Given the description of an element on the screen output the (x, y) to click on. 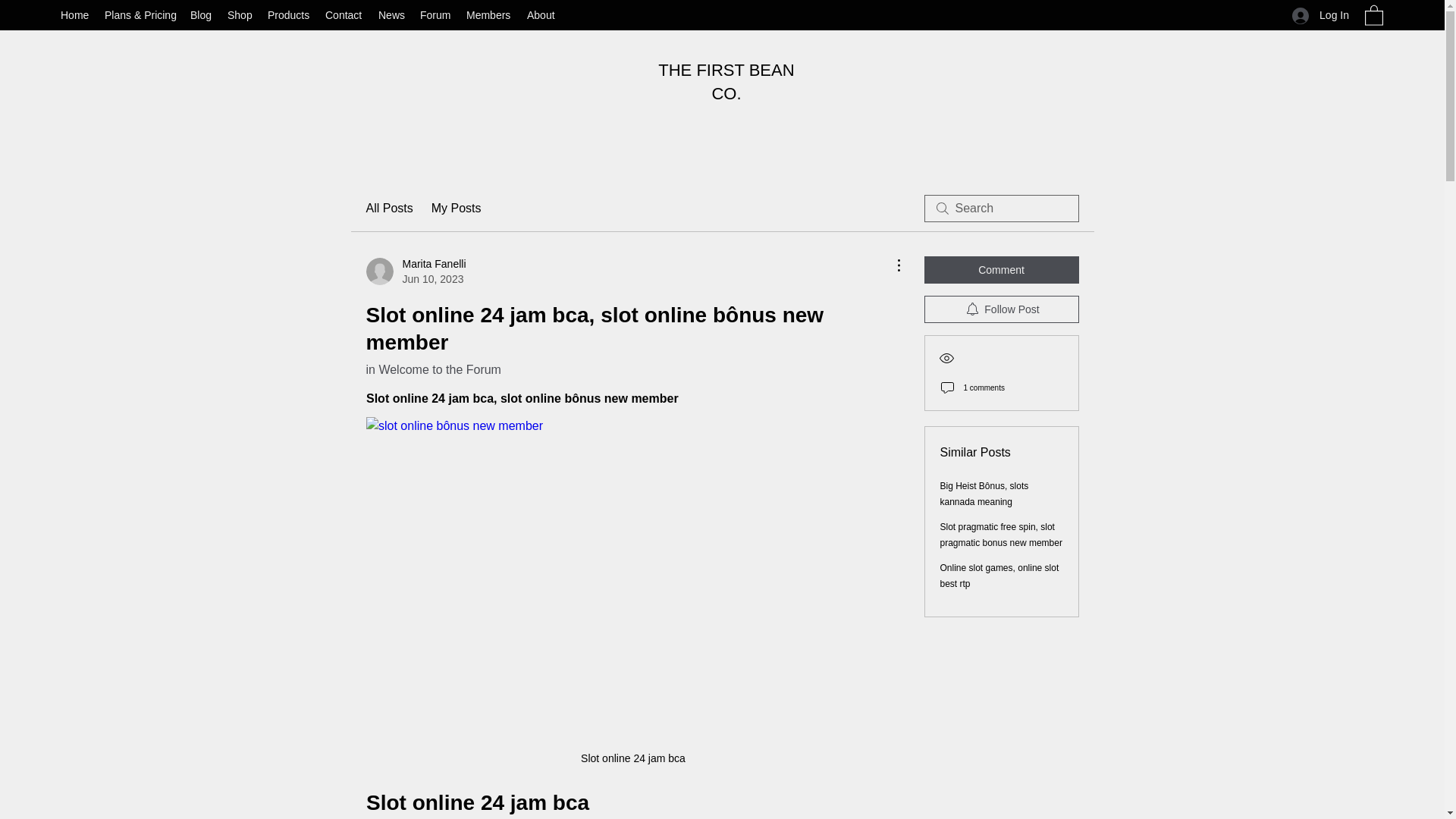
About (541, 15)
Comment (1000, 269)
Log In (1320, 15)
in Welcome to the Forum (432, 369)
THE FIRST BEAN CO. (725, 81)
Blog (201, 15)
Follow Post (1000, 308)
Forum (435, 15)
Contact (344, 15)
Online slot games, online slot best rtp (999, 575)
